Given the description of an element on the screen output the (x, y) to click on. 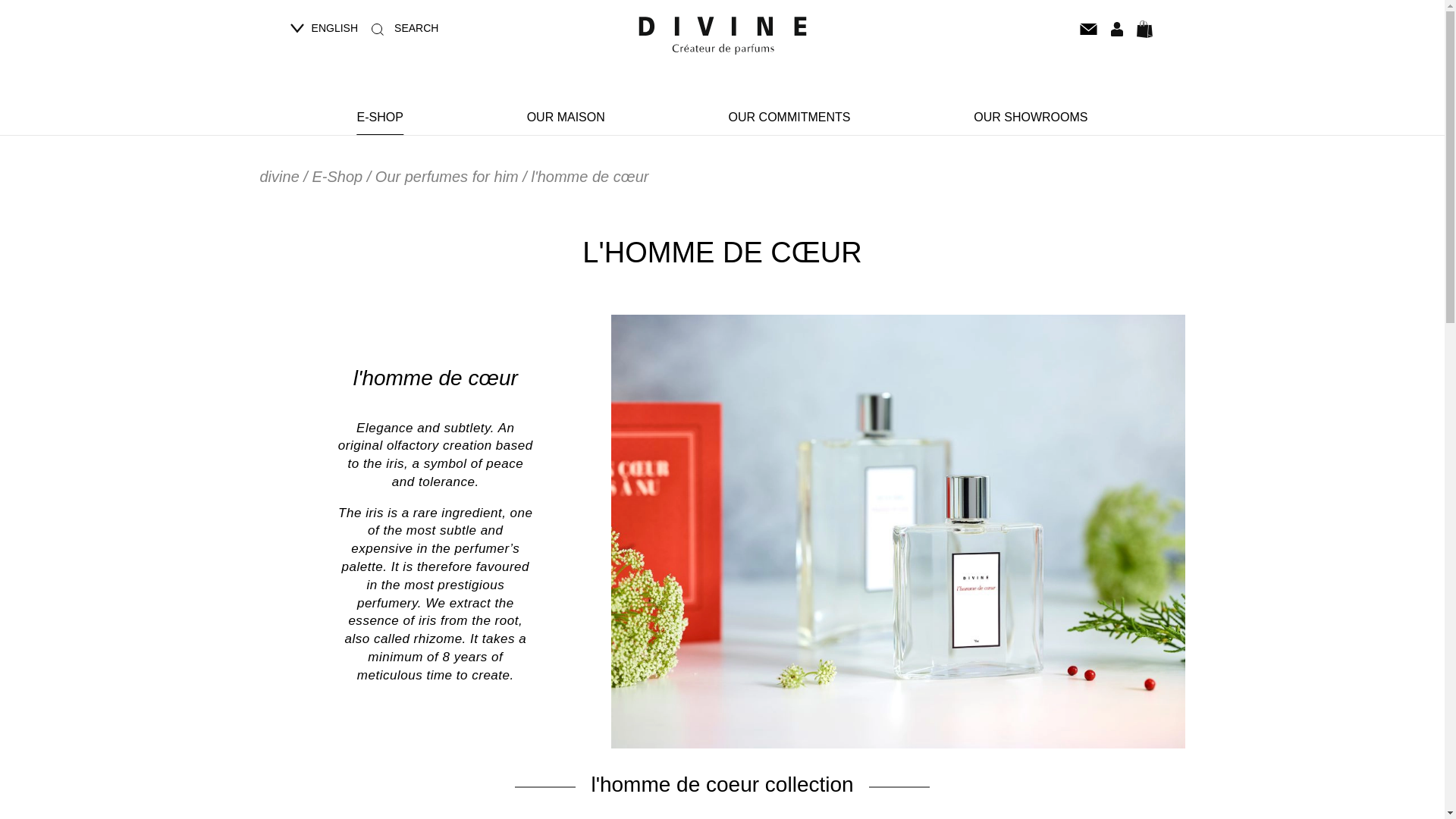
View your shopping cart (1144, 29)
E-SHOP (379, 117)
Contact us (1088, 28)
OUR MAISON (565, 117)
OUR COMMITMENTS (789, 117)
